Given the description of an element on the screen output the (x, y) to click on. 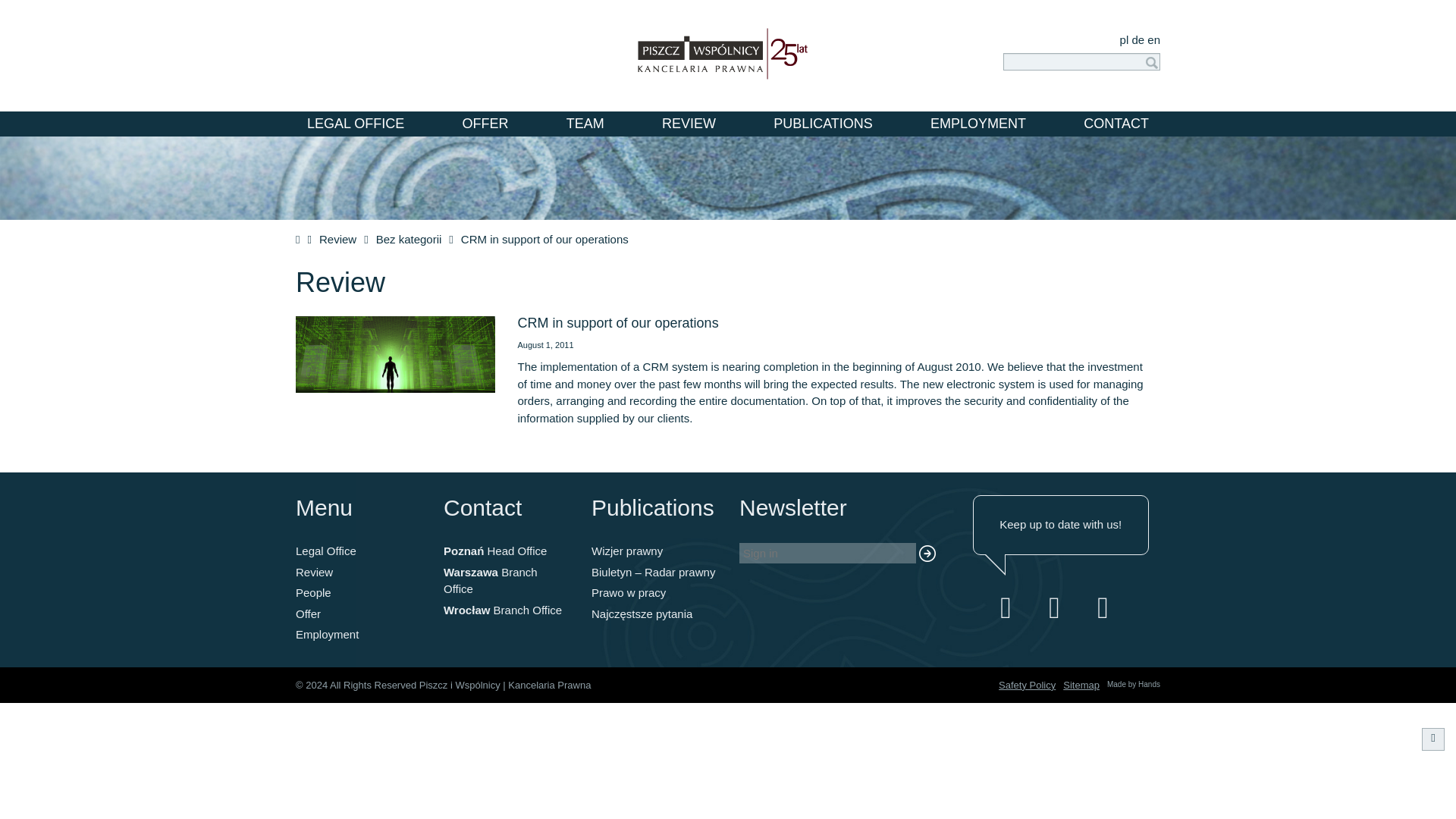
Employment (326, 634)
en (1153, 39)
REVIEW (688, 123)
OFFER (485, 123)
Bez kategorii (408, 238)
Prawo w pracy (628, 592)
Review (337, 238)
Review (314, 571)
CONTACT (1115, 123)
Warszawa Branch Office (490, 580)
